Given the description of an element on the screen output the (x, y) to click on. 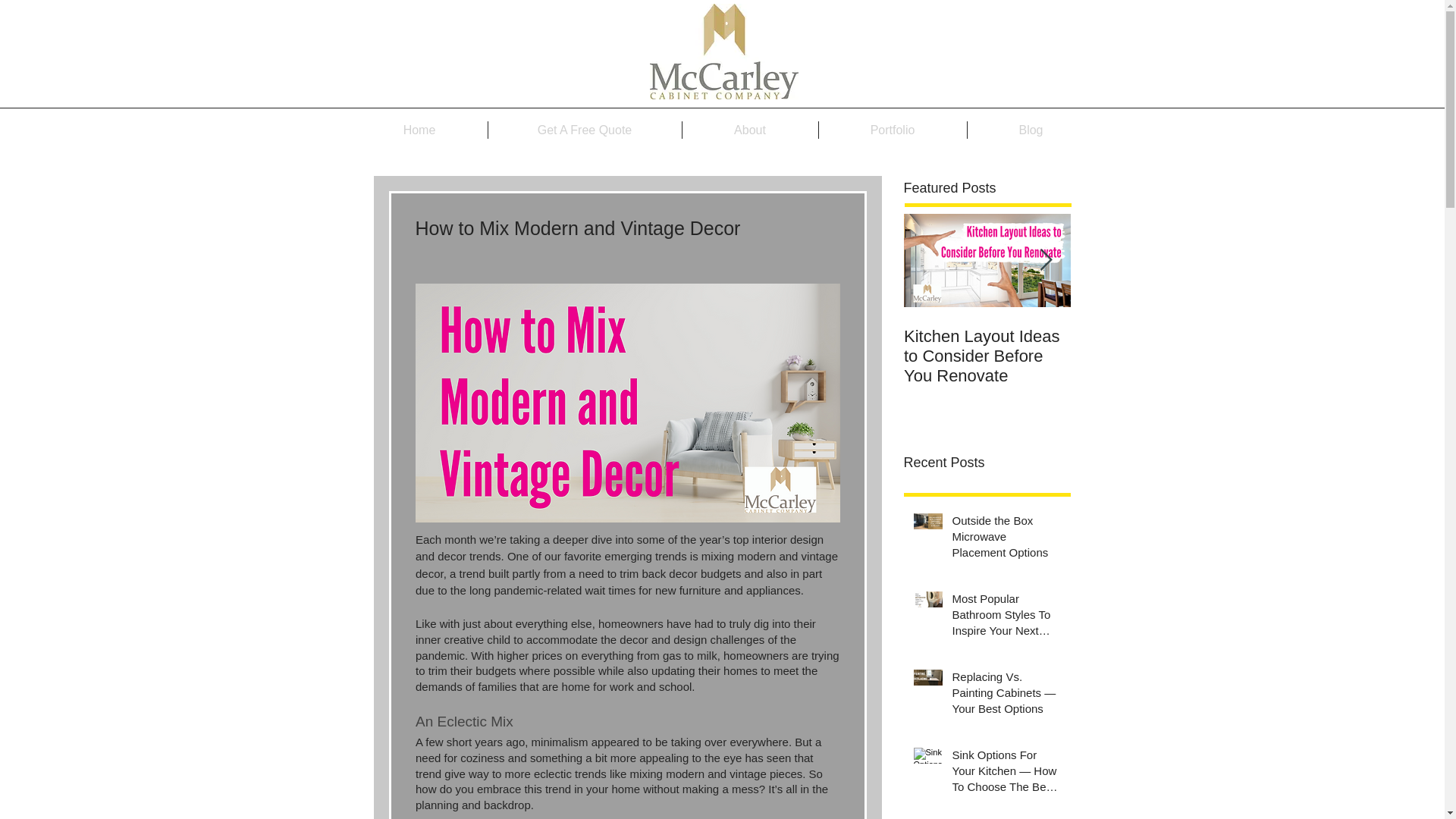
Get A Free Quote (584, 129)
Outside the Box Microwave Placement Options (1006, 539)
Home (419, 129)
Blog (1031, 129)
DIY or Call in a Pro? (1321, 336)
About (750, 129)
Most Popular Bathroom Styles To Inspire Your Next Remodel (1006, 617)
Portfolio (892, 129)
Kitchen Layout Ideas to Consider Before You Renovate (987, 355)
